Given the description of an element on the screen output the (x, y) to click on. 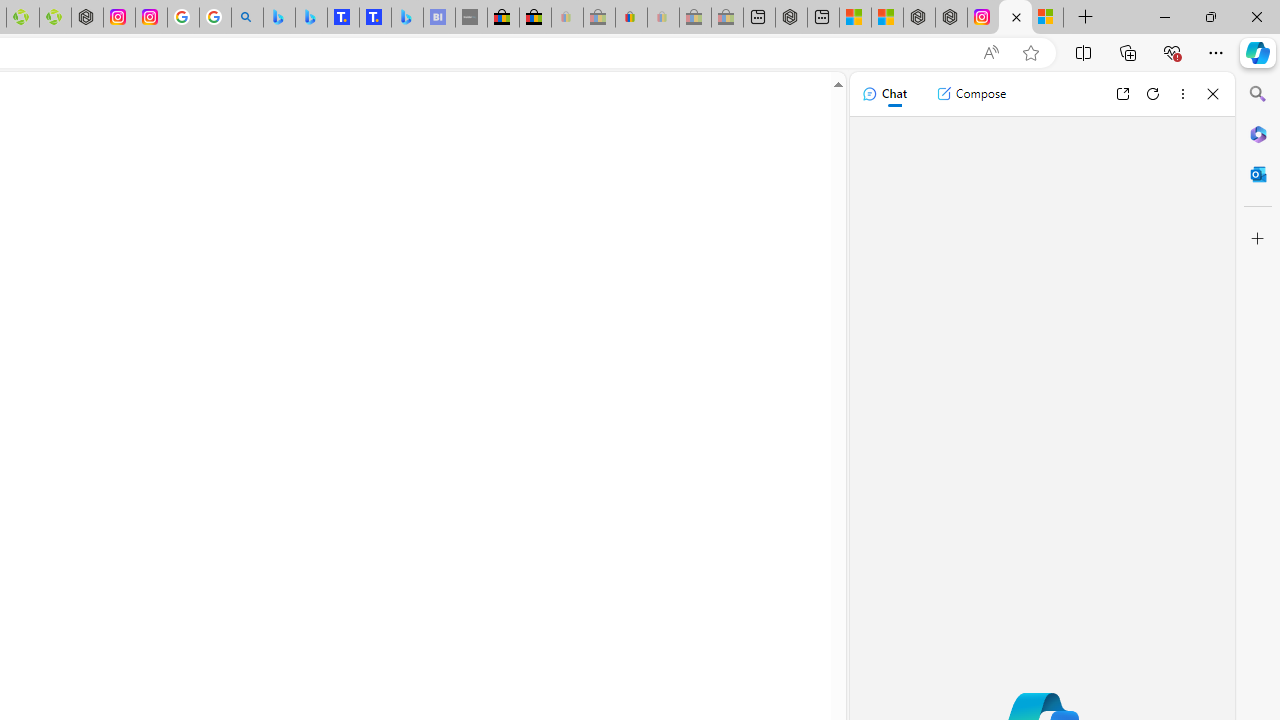
The importance of being lazy (886, 17)
Microsoft Bing Travel - Stays in Bangkok, Bangkok, Thailand (310, 17)
Sign in to your Microsoft account (1047, 17)
Yard, Garden & Outdoor Living - Sleeping (727, 17)
Descarga Driver Updater (54, 17)
alabama high school quarterback dies - Search (246, 17)
Open link in new tab (1122, 93)
